Given the description of an element on the screen output the (x, y) to click on. 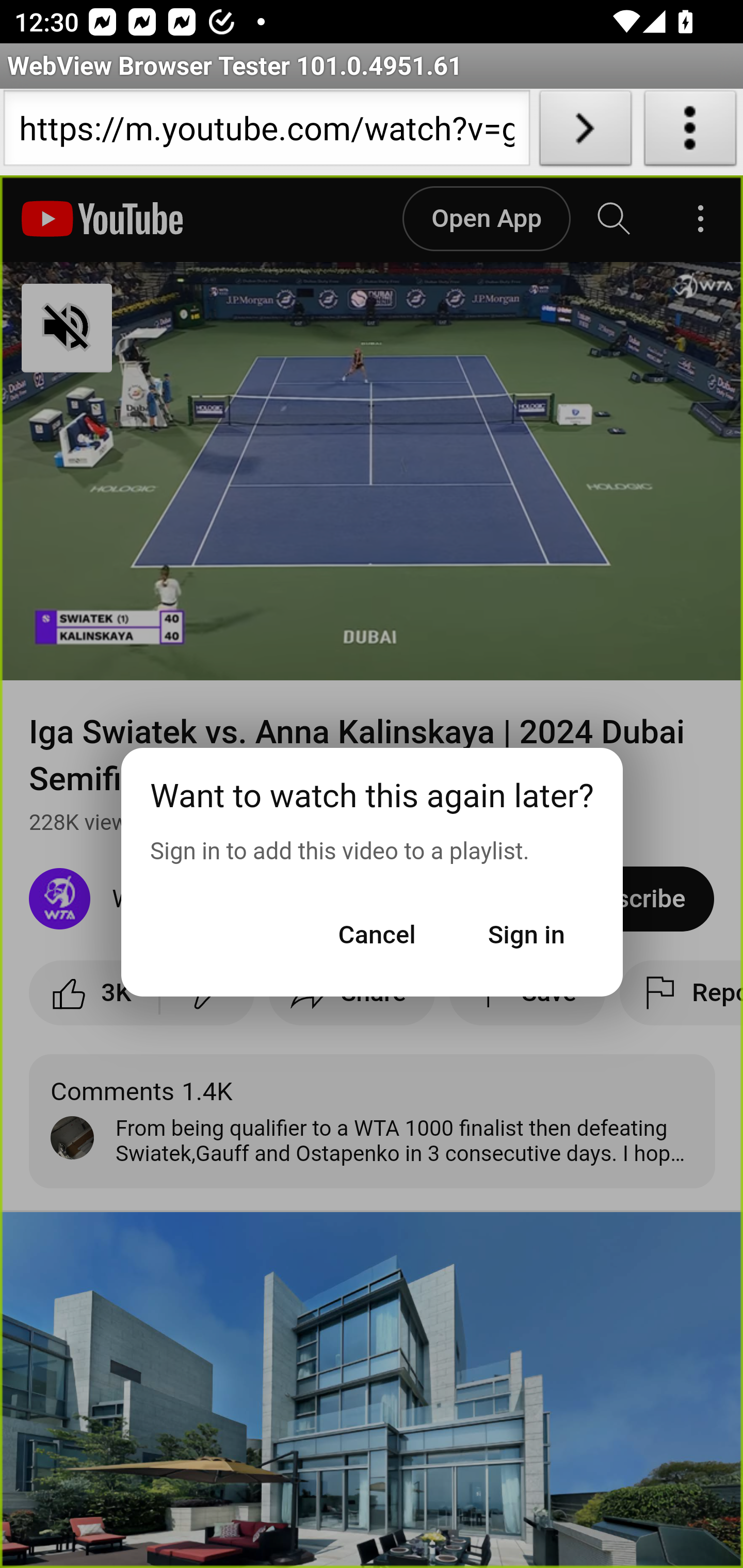
Load URL (585, 132)
About WebView (690, 132)
Cancel (376, 934)
Sign in (525, 934)
